Given the description of an element on the screen output the (x, y) to click on. 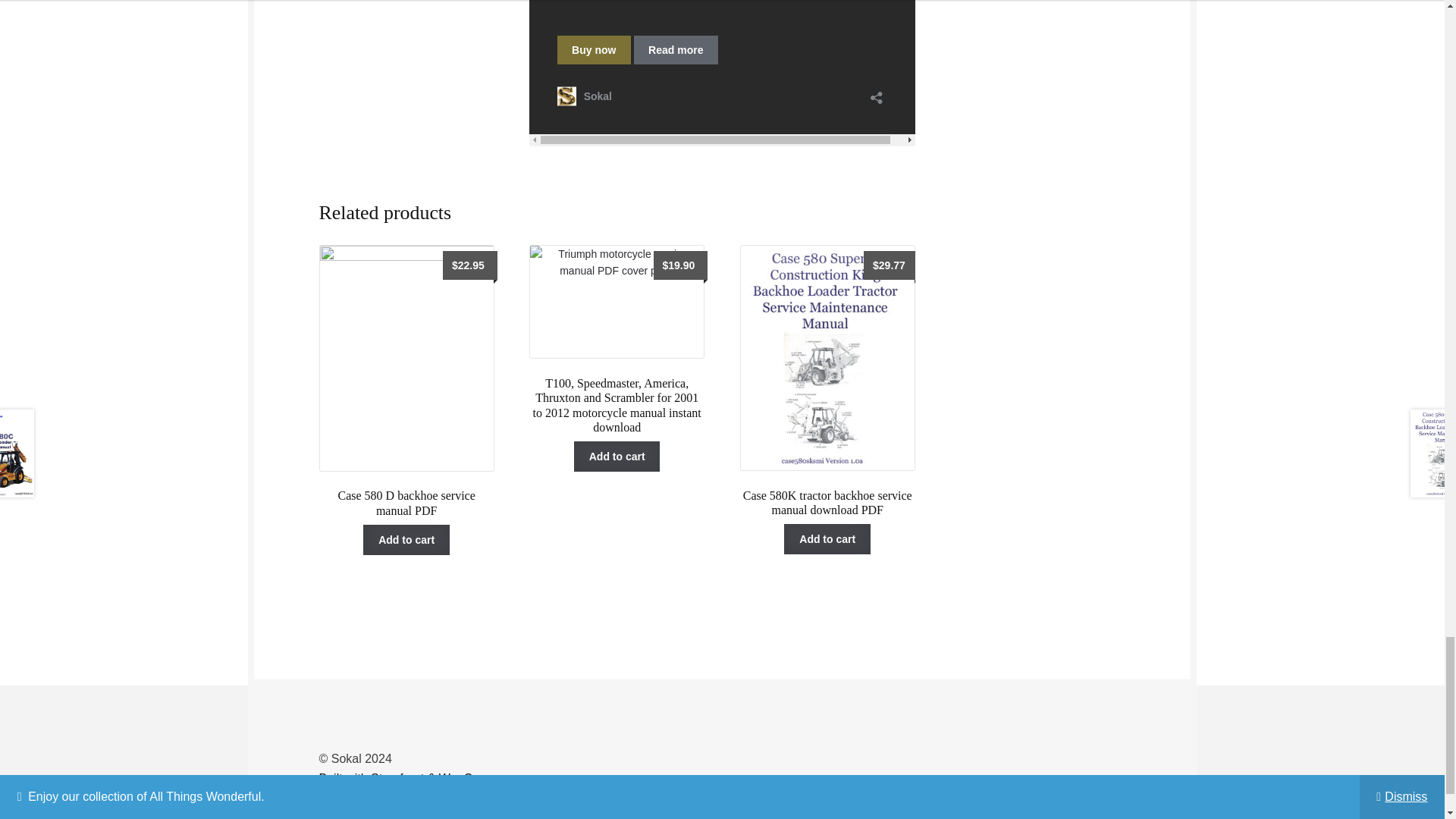
WooCommerce - The Best eCommerce Platform for WordPress (420, 778)
